Given the description of an element on the screen output the (x, y) to click on. 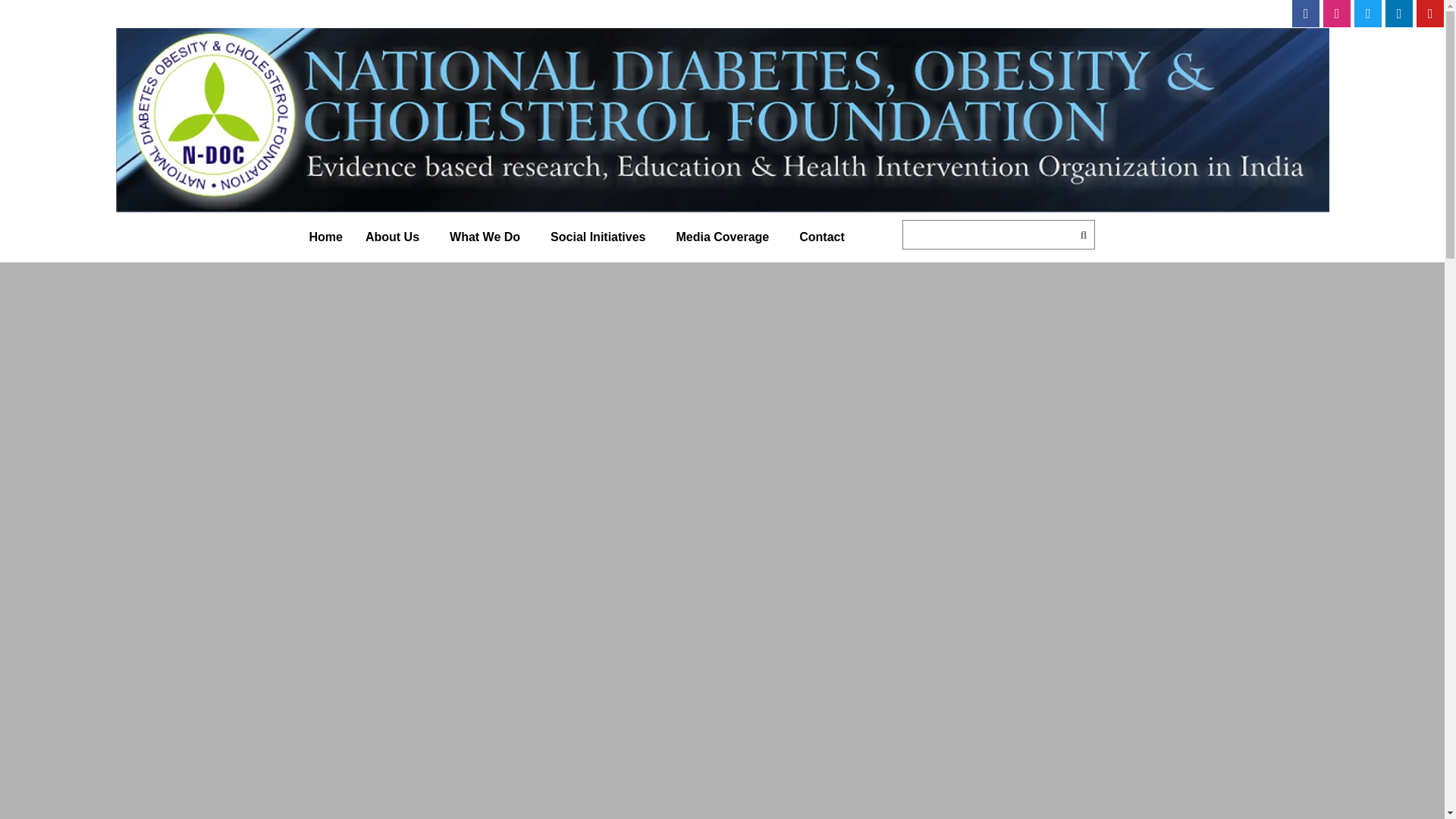
Contact (825, 237)
Home (325, 237)
Social Initiatives (600, 237)
Media Coverage (725, 237)
About Us (395, 237)
What We Do (488, 237)
